Given the description of an element on the screen output the (x, y) to click on. 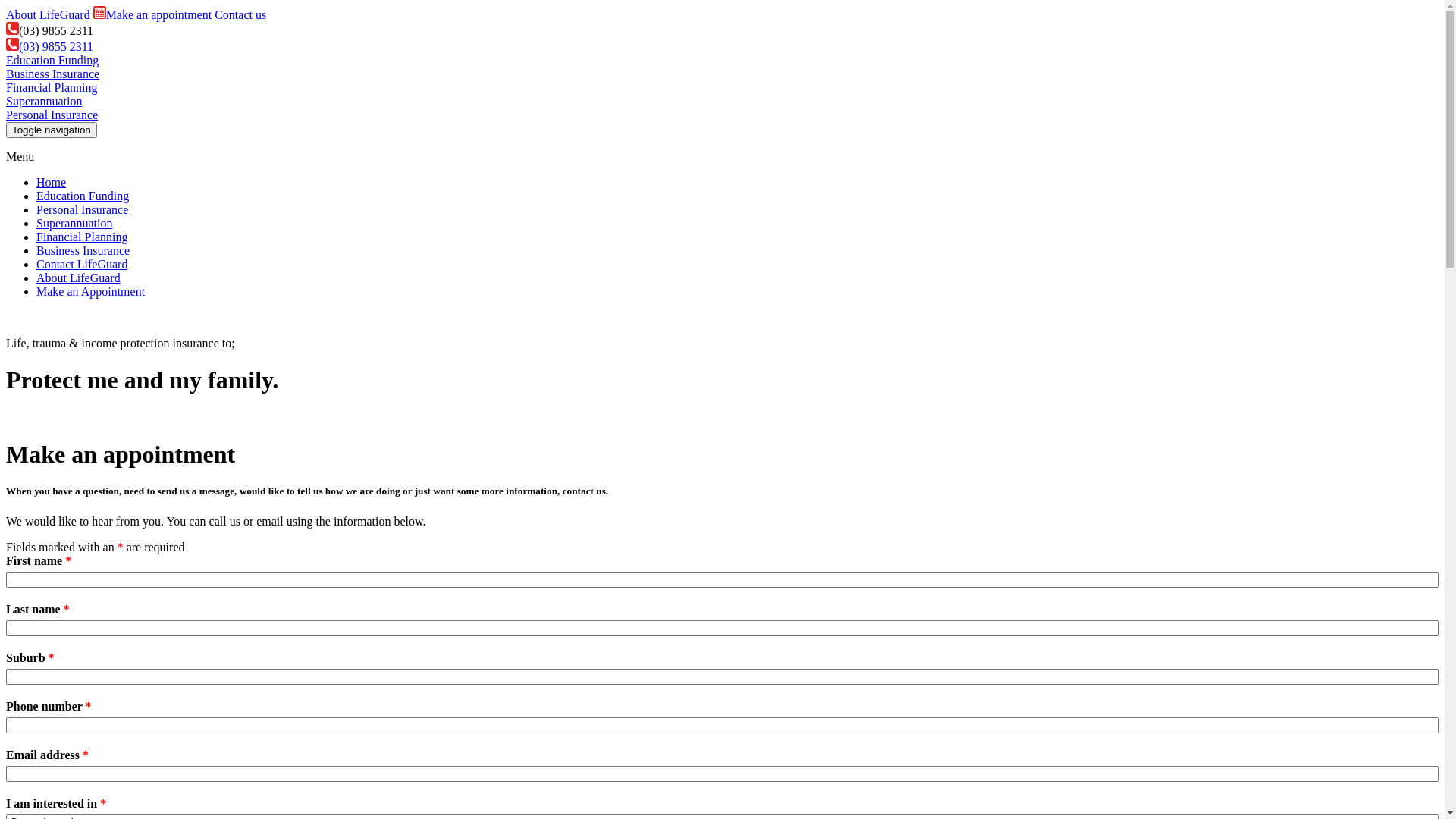
Make an appointment Element type: text (152, 14)
Contact us Element type: text (240, 14)
Financial Planning Element type: text (81, 236)
Education Funding Element type: text (52, 59)
Business Insurance Element type: text (52, 73)
Make an Appointment Element type: text (90, 291)
(03) 9855 2311 Element type: text (49, 46)
(03) 9855 2311 Element type: text (49, 30)
Superannuation Element type: text (43, 100)
Superannuation Element type: text (74, 222)
Business Insurance Element type: text (82, 250)
Contact LifeGuard Element type: text (81, 263)
About LifeGuard Element type: text (78, 277)
Personal Insurance Element type: text (51, 114)
Personal Insurance Element type: text (82, 209)
About LifeGuard Element type: text (48, 14)
Toggle navigation Element type: text (51, 130)
Financial Planning Element type: text (51, 87)
Home Element type: text (50, 181)
Education Funding Element type: text (82, 195)
